Given the description of an element on the screen output the (x, y) to click on. 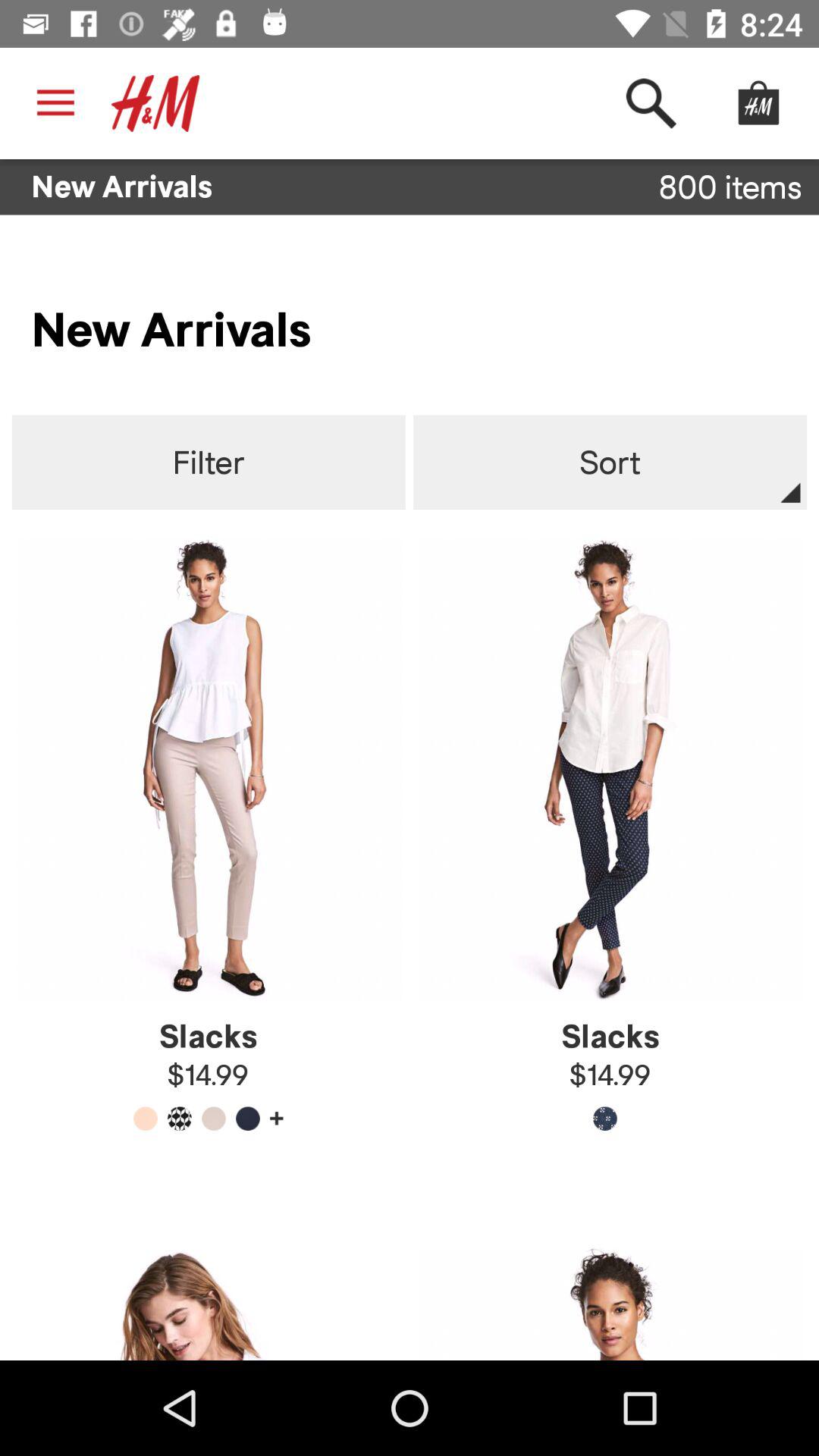
select the icon below new arrivals item (208, 462)
